Given the description of an element on the screen output the (x, y) to click on. 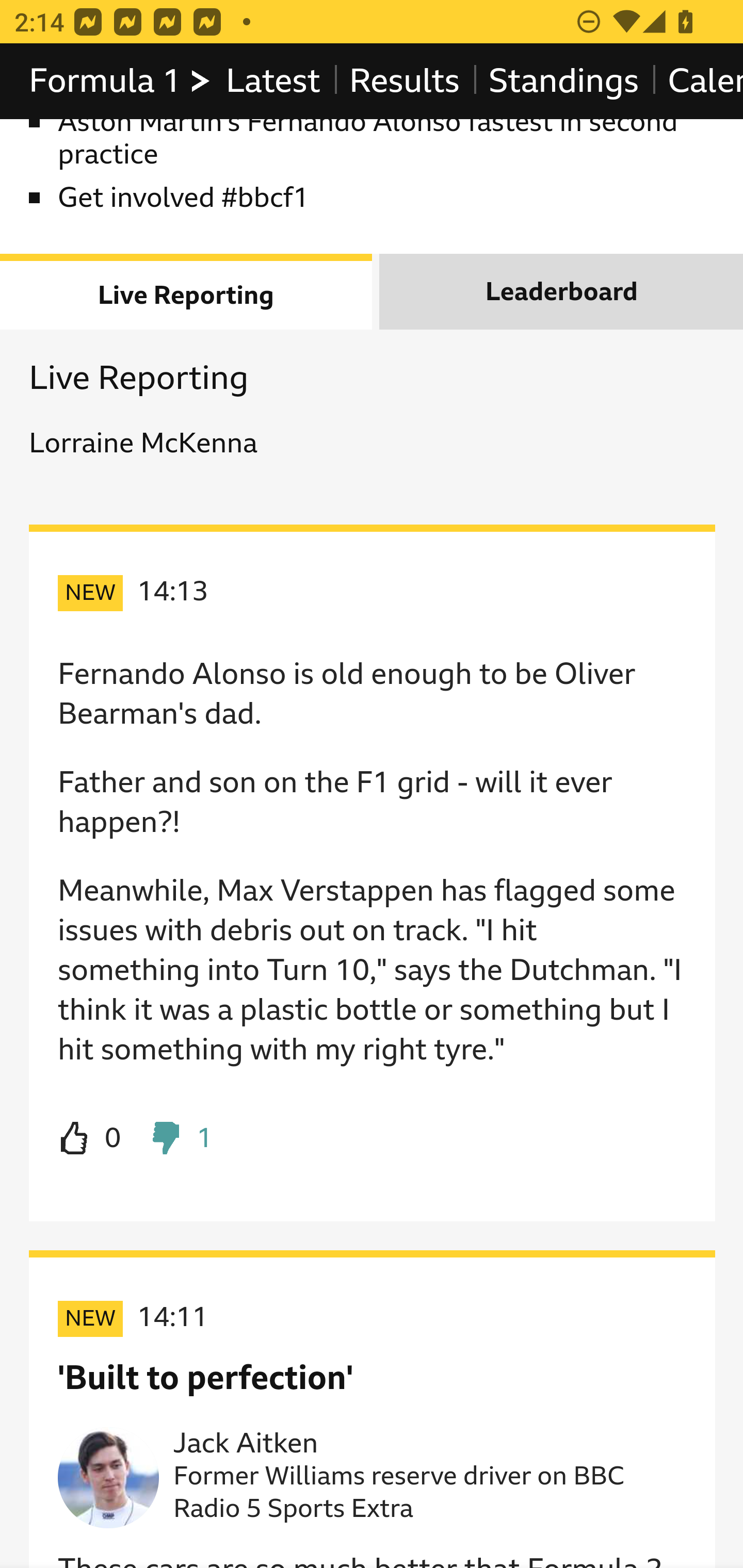
Live Reporting (186, 292)
Leaderboard (560, 292)
Like (89, 1138)
Disliked (180, 1138)
